Given the description of an element on the screen output the (x, y) to click on. 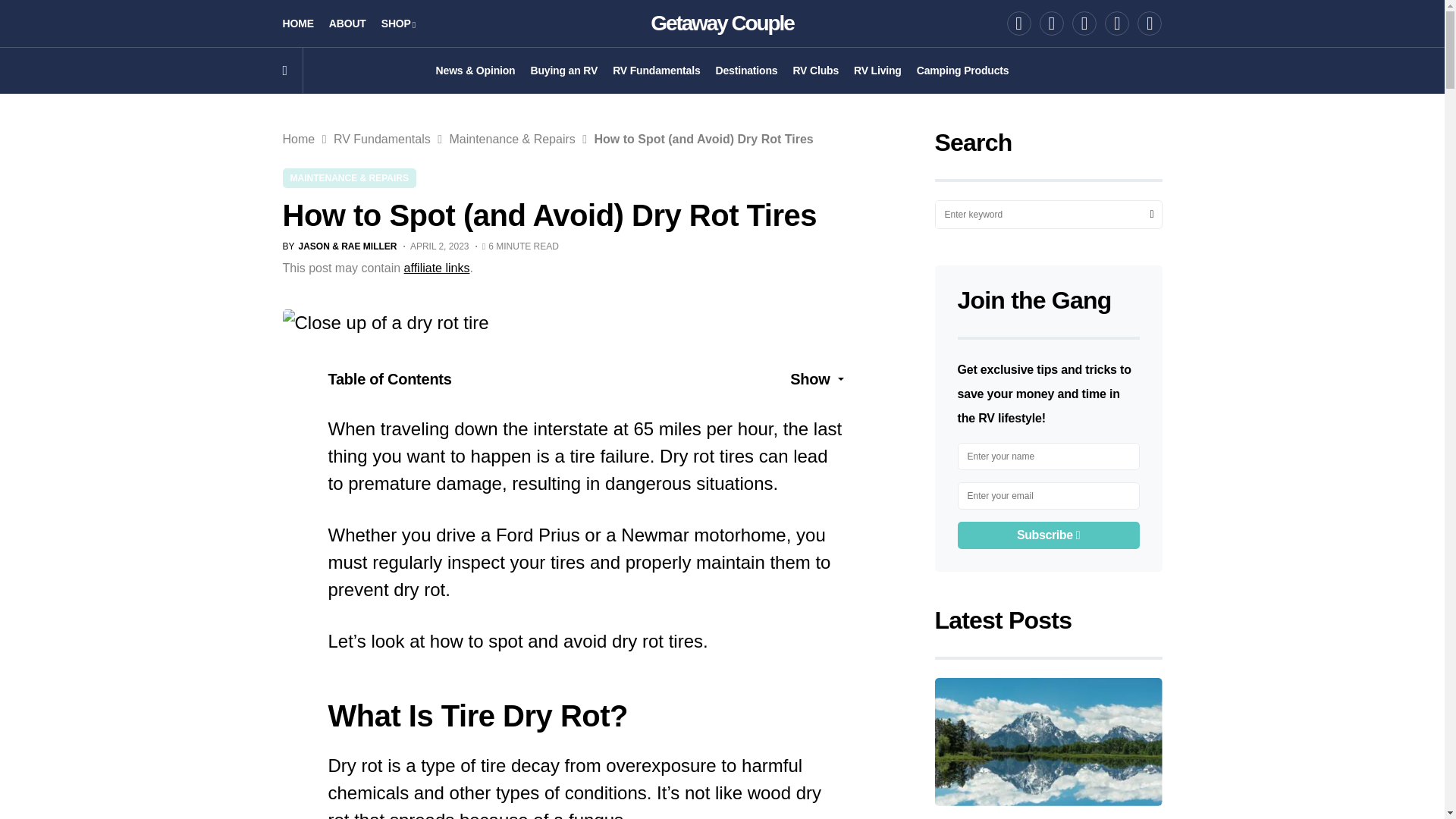
Buying an RV (562, 70)
RV Living (877, 70)
Getaway Couple (721, 23)
Home (298, 138)
Destinations (746, 70)
RV Fundamentals (656, 70)
Camping Products (963, 70)
RV Clubs (815, 70)
